Given the description of an element on the screen output the (x, y) to click on. 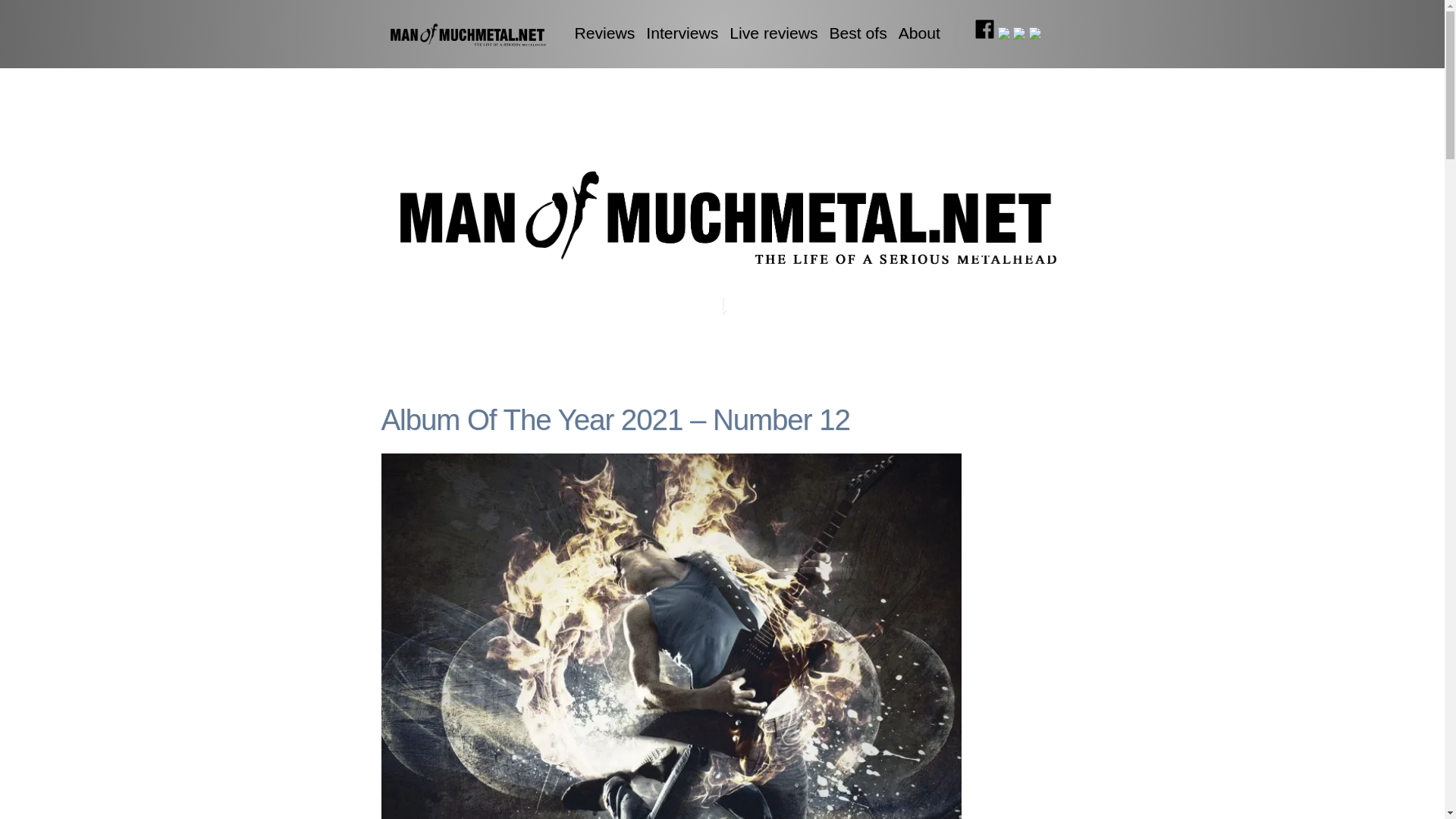
Best ofs (857, 32)
About (919, 32)
Reviews (604, 32)
Live reviews (772, 32)
Interviews (681, 32)
